Given the description of an element on the screen output the (x, y) to click on. 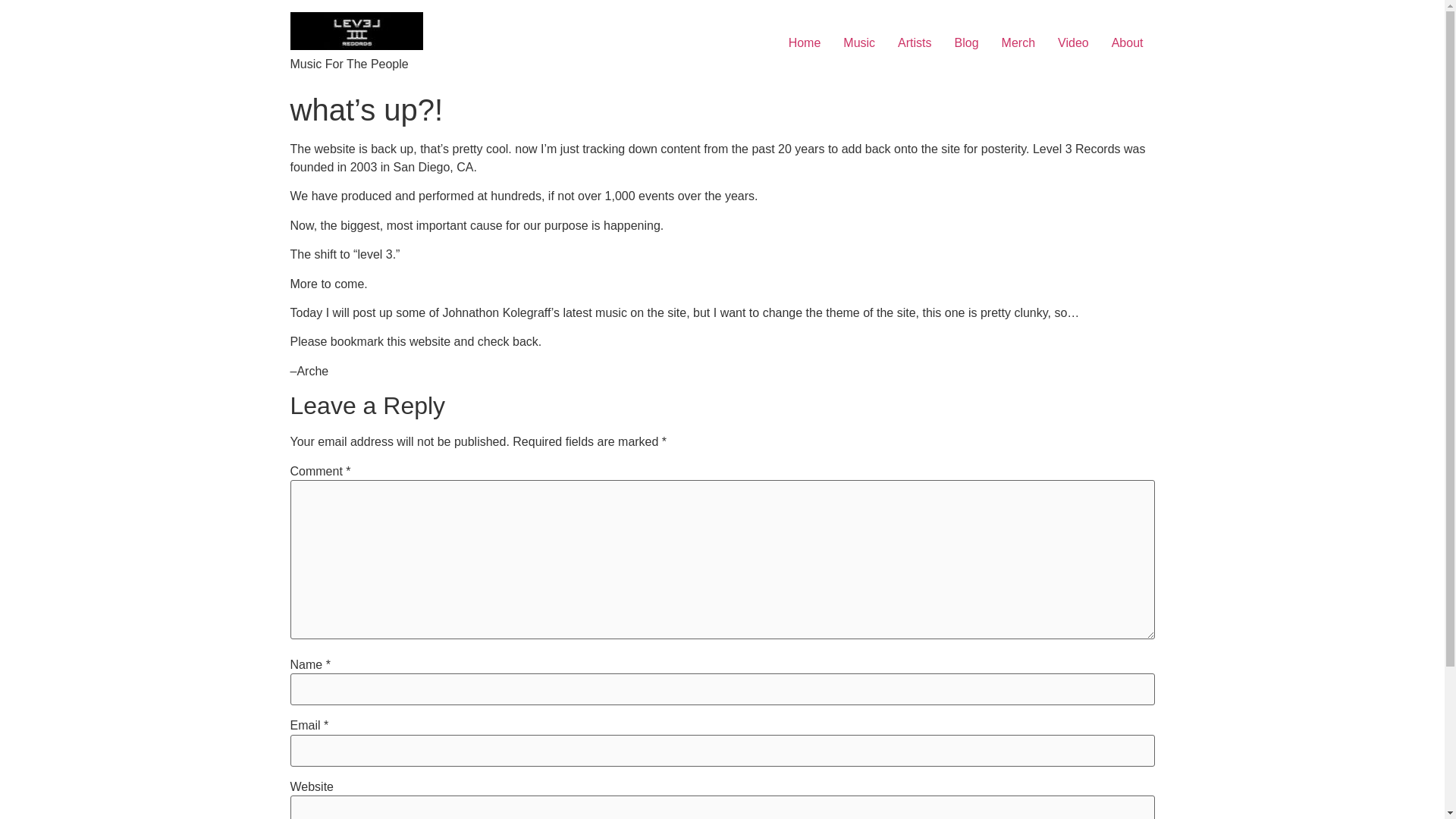
Home (804, 42)
Merch (1018, 42)
Blog (966, 42)
About (1127, 42)
Artists (914, 42)
Video (1073, 42)
Music (858, 42)
